Given the description of an element on the screen output the (x, y) to click on. 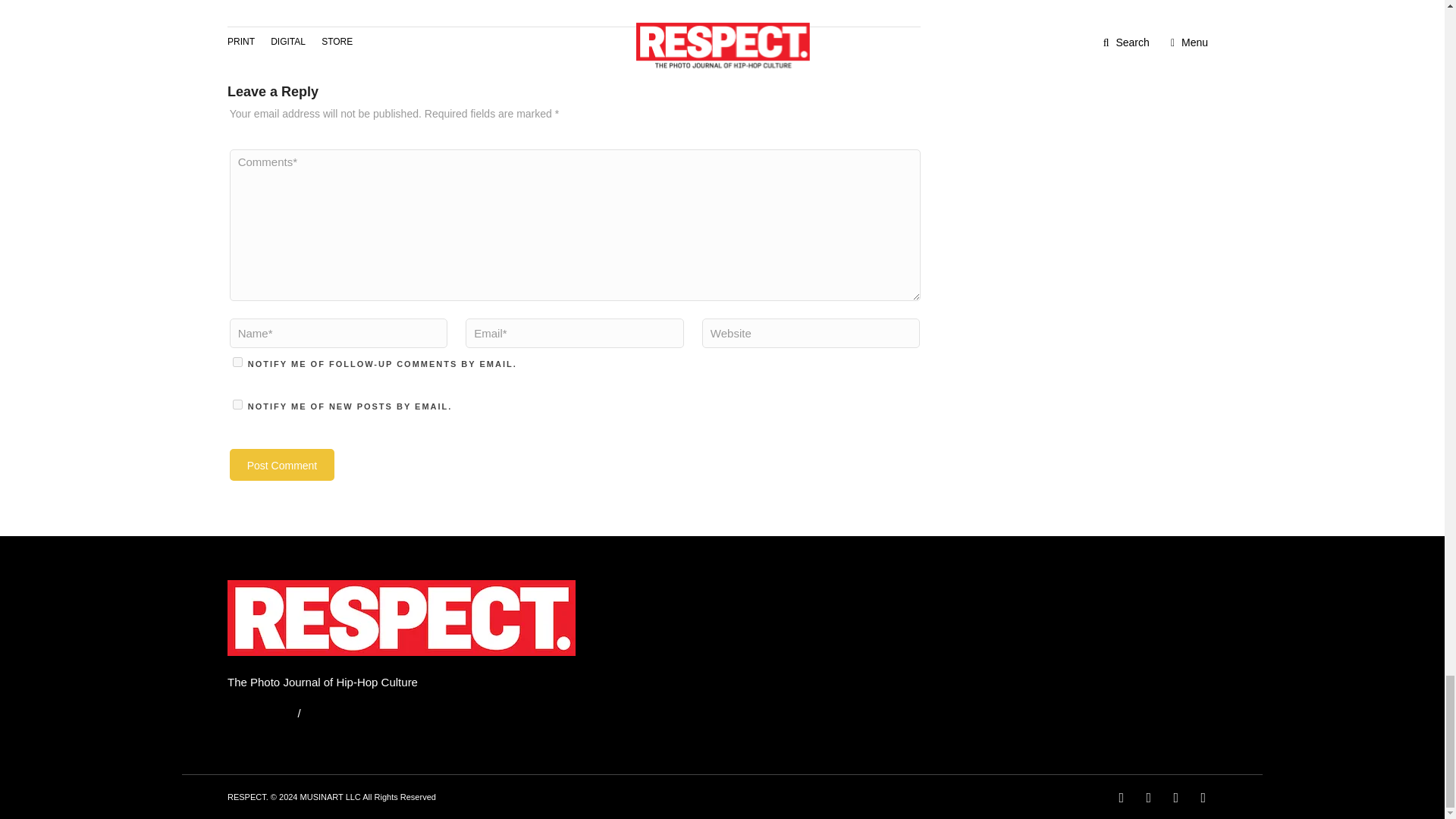
Post Comment (282, 464)
subscribe (237, 404)
subscribe (237, 361)
